Given the description of an element on the screen output the (x, y) to click on. 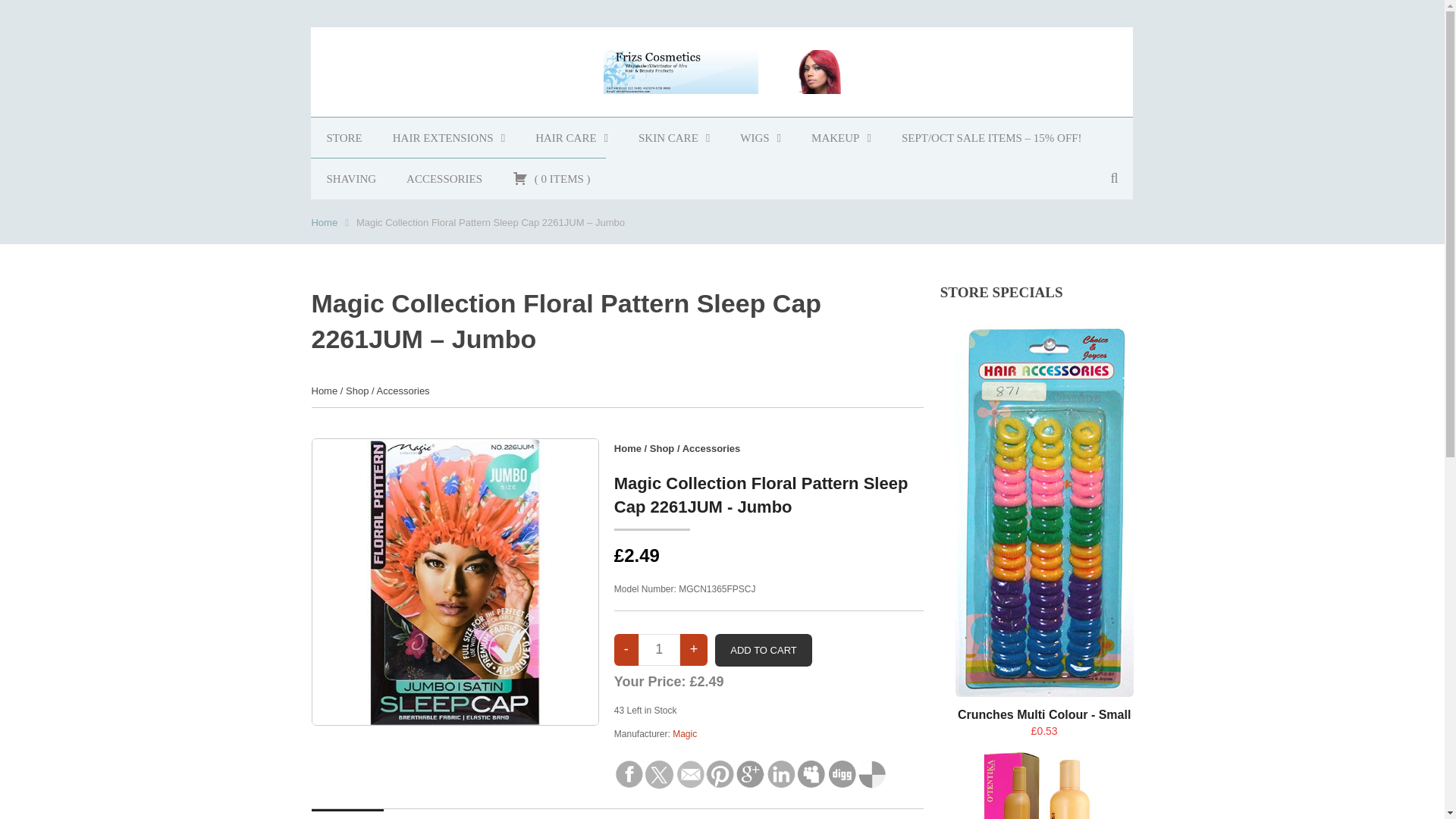
STORE (344, 137)
HAIR CARE (571, 137)
MAKEUP (841, 137)
afro hair products UK  (571, 137)
Home (628, 448)
Shop (662, 448)
ADD TO CART (762, 650)
Accessories (403, 390)
ACCESSORIES (444, 178)
- (626, 649)
Accessories (711, 448)
Shop (357, 390)
Home (324, 222)
WIGS (760, 137)
SKIN CARE (674, 137)
